Given the description of an element on the screen output the (x, y) to click on. 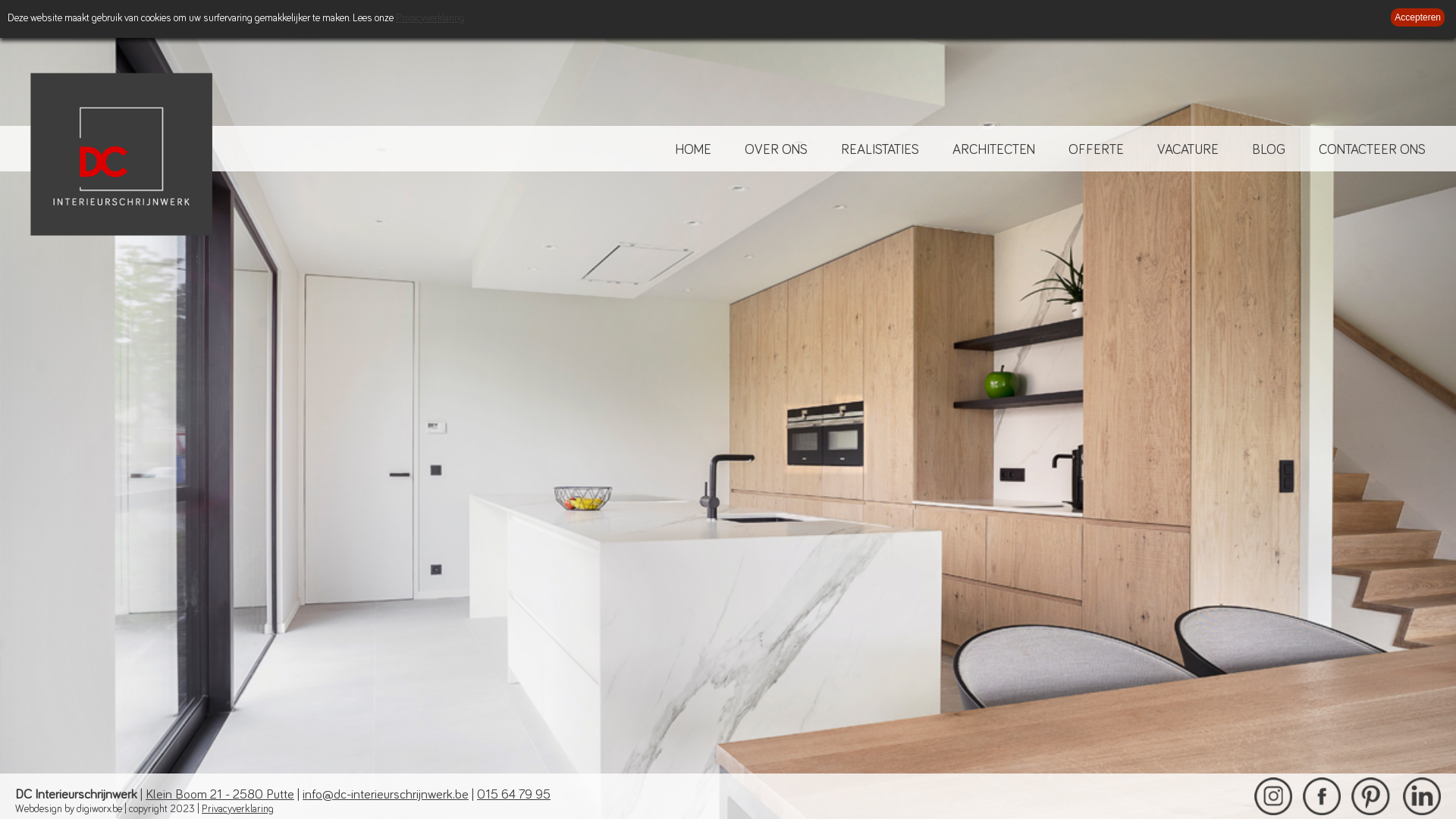
CONTACTEER ONS Element type: text (1371, 149)
Klein Boom 21 - 2580 Putte Element type: text (219, 794)
OVER ONS Element type: text (775, 149)
ARCHITECTEN Element type: text (993, 149)
VACATURE Element type: text (1187, 149)
BLOG Element type: text (1268, 149)
Privacyverklaring Element type: text (237, 808)
015 64 79 95 Element type: text (513, 794)
REALISTATIES Element type: text (879, 149)
HOME Element type: text (692, 149)
info@dc-interieurschrijnwerk.be Element type: text (385, 794)
OFFERTE Element type: text (1095, 149)
Accepteren Element type: text (1417, 17)
Privacyverklaring Element type: text (429, 17)
